Given the description of an element on the screen output the (x, y) to click on. 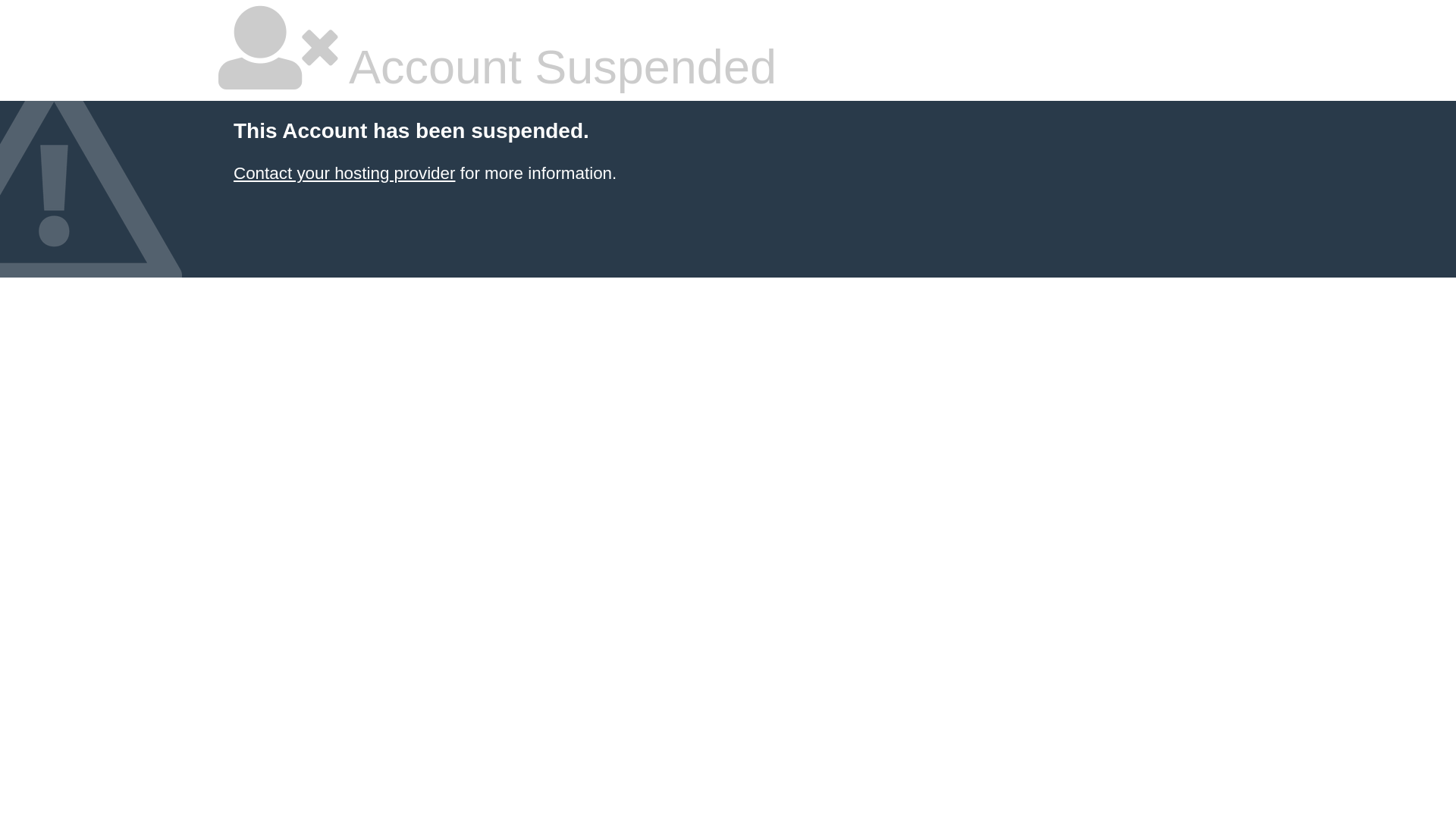
Contact your hosting provider Element type: text (344, 172)
